Given the description of an element on the screen output the (x, y) to click on. 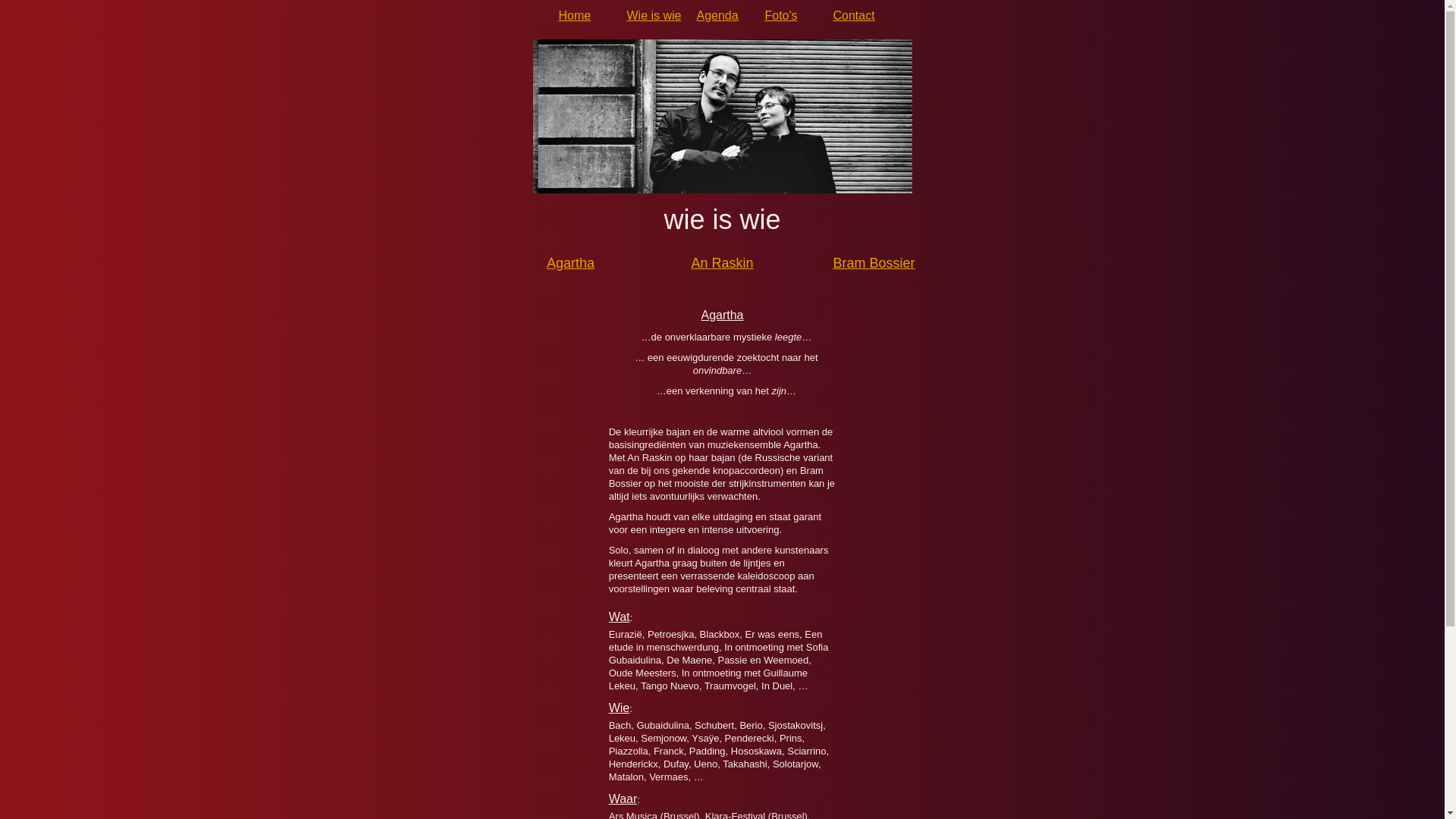
Contact Element type: text (859, 15)
Agartha Element type: text (570, 262)
Bram Bossier Element type: text (873, 262)
Wie is wie Element type: text (653, 15)
Agenda Element type: text (723, 15)
Foto's Element type: text (791, 15)
Home Element type: text (584, 15)
An Raskin Element type: text (721, 262)
